Given the description of an element on the screen output the (x, y) to click on. 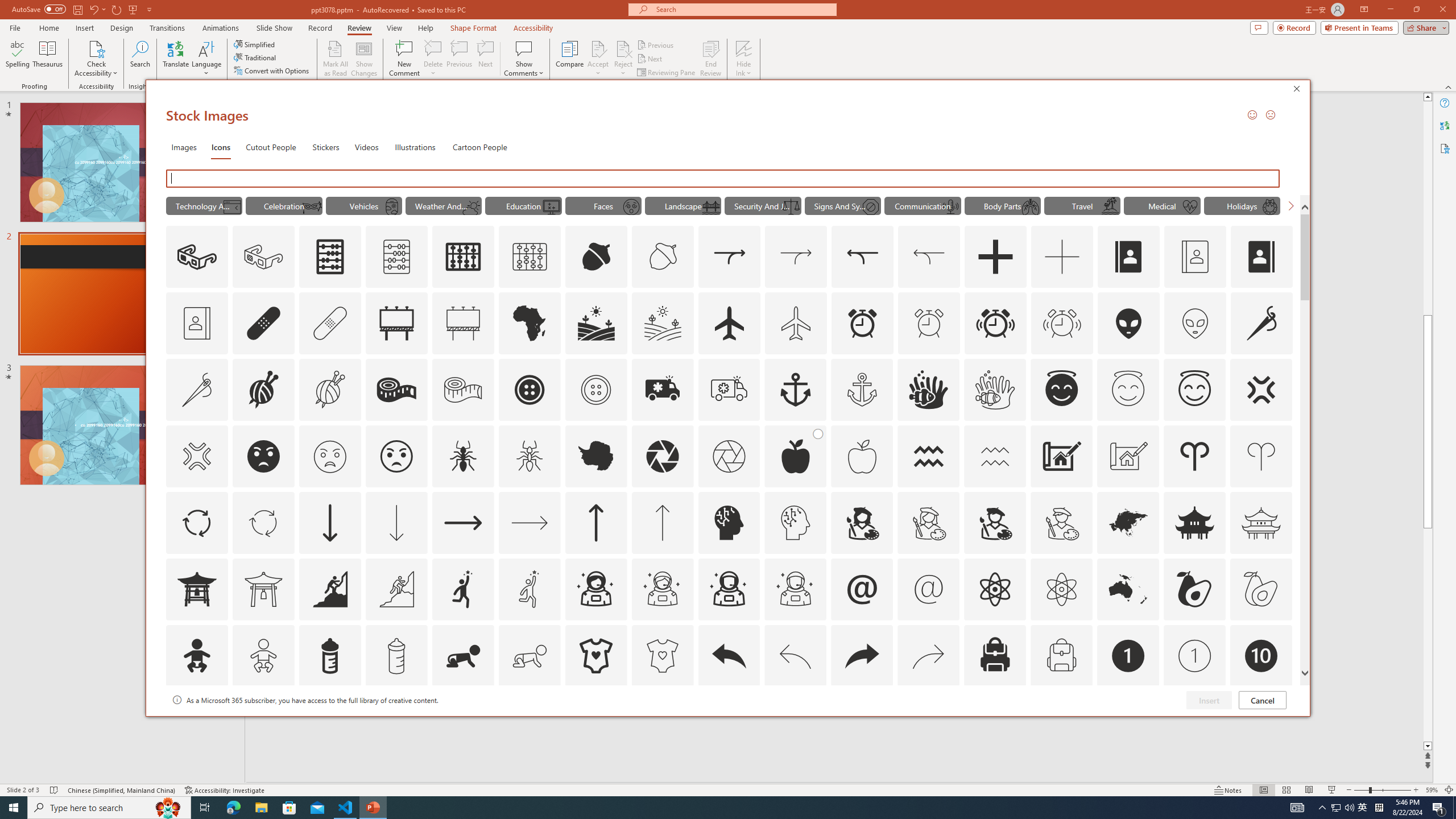
AutomationID: Icons_3dGlasses_M (263, 256)
AutomationID: Icons_Abacus_M (397, 256)
AutomationID: Icons_AlterationsTailoring (1261, 323)
Cartoon People (479, 146)
AutomationID: Icons_AddressBook_RTL_M (197, 323)
